Given the description of an element on the screen output the (x, y) to click on. 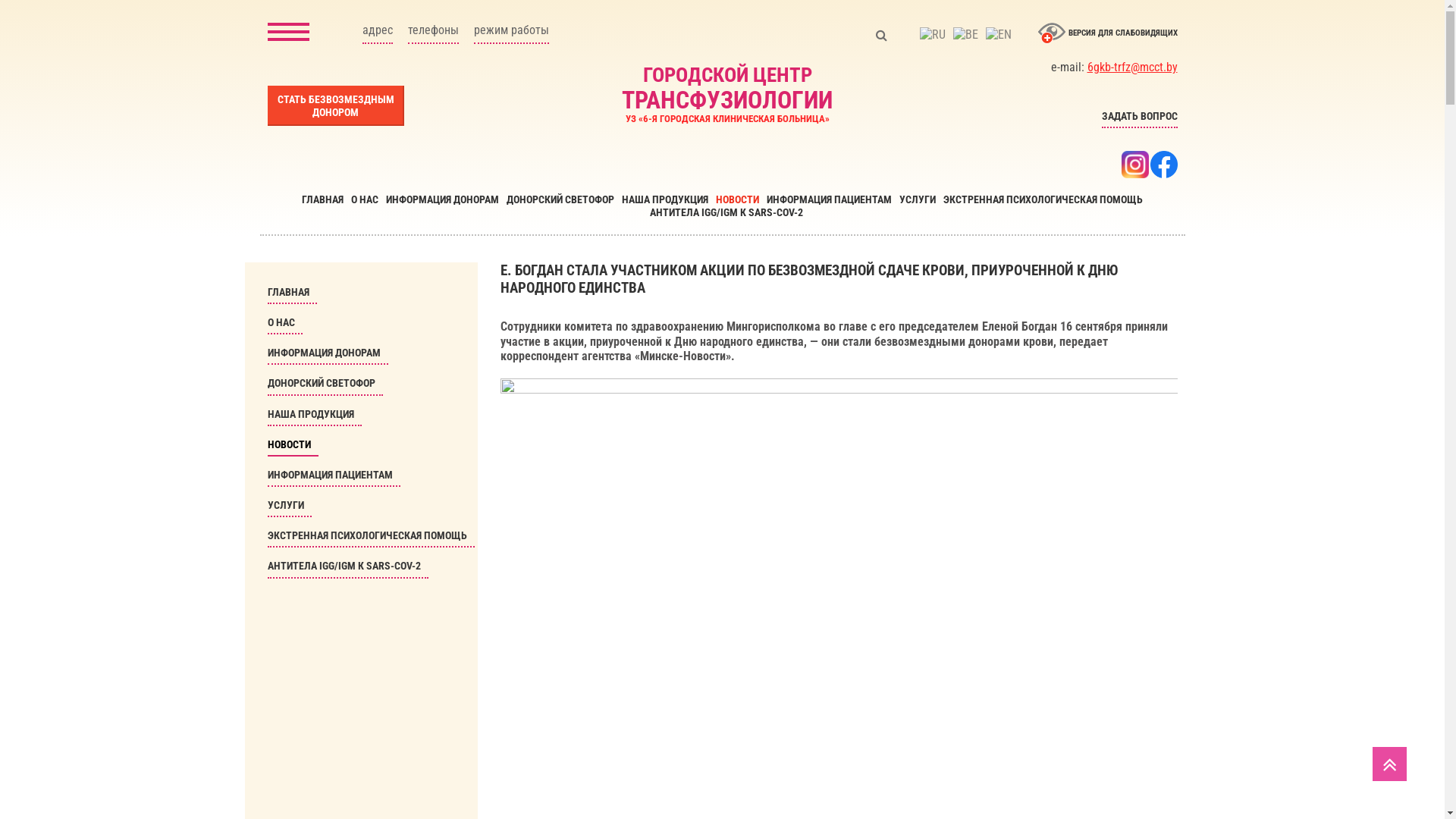
Belarusian Element type: hover (965, 34)
Russian Element type: hover (932, 34)
English Element type: hover (997, 34)
6gkb-trfz@mcct.by Element type: text (1132, 66)
